Given the description of an element on the screen output the (x, y) to click on. 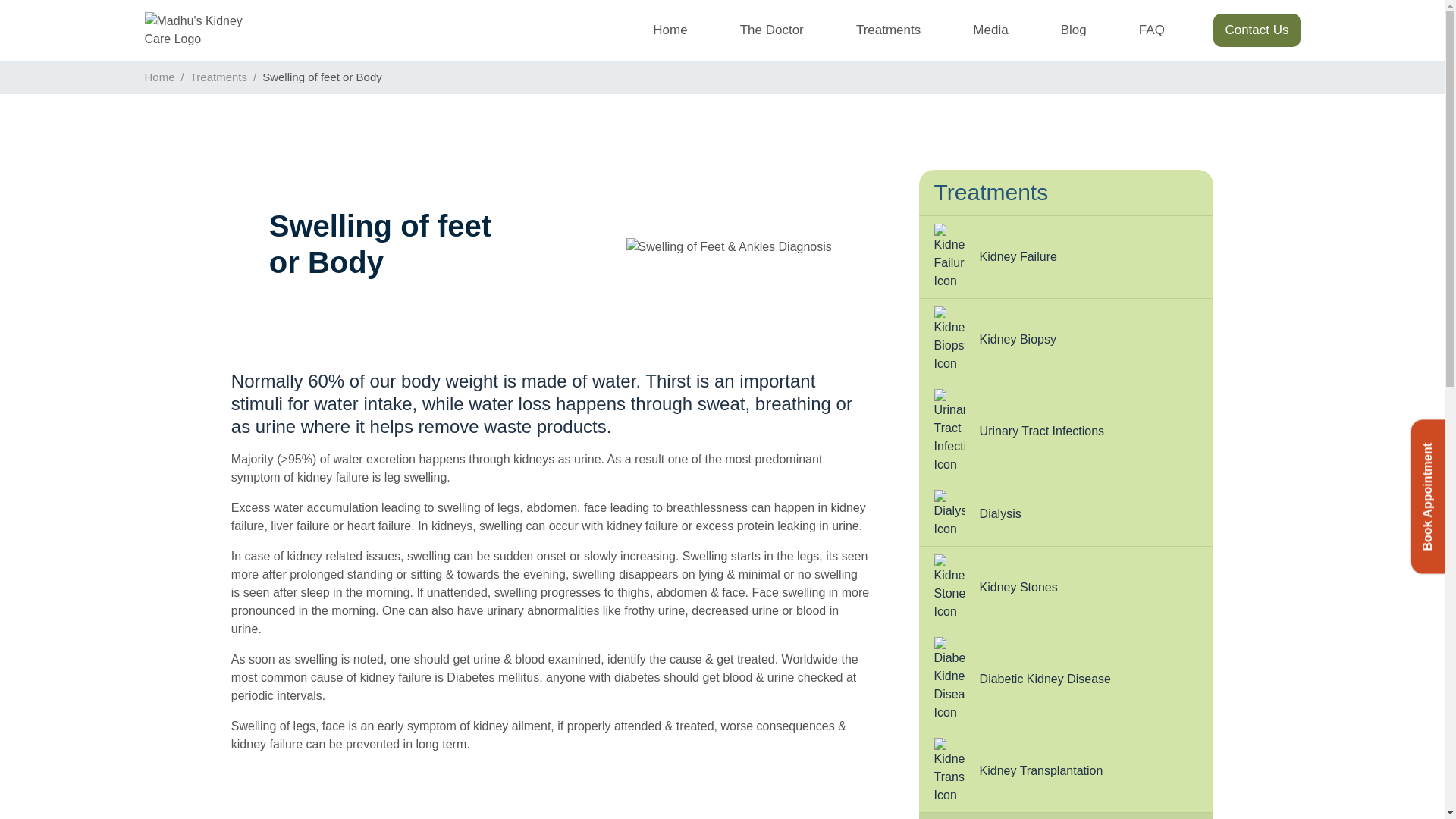
Home (159, 76)
Swelling of feet or Body (1066, 816)
Blog (1072, 30)
Home (670, 30)
Kidney Transplantation (1066, 771)
FAQ (1151, 30)
Urinary Tract Infections (1066, 431)
Treatments (218, 76)
Diabetic Kidney Disease (1066, 679)
Kidney Failure (1066, 256)
Madhu's Kidney Care (203, 30)
The Doctor (771, 30)
Dialysis (1066, 514)
Contact Us (1256, 29)
Treatments (887, 30)
